Given the description of an element on the screen output the (x, y) to click on. 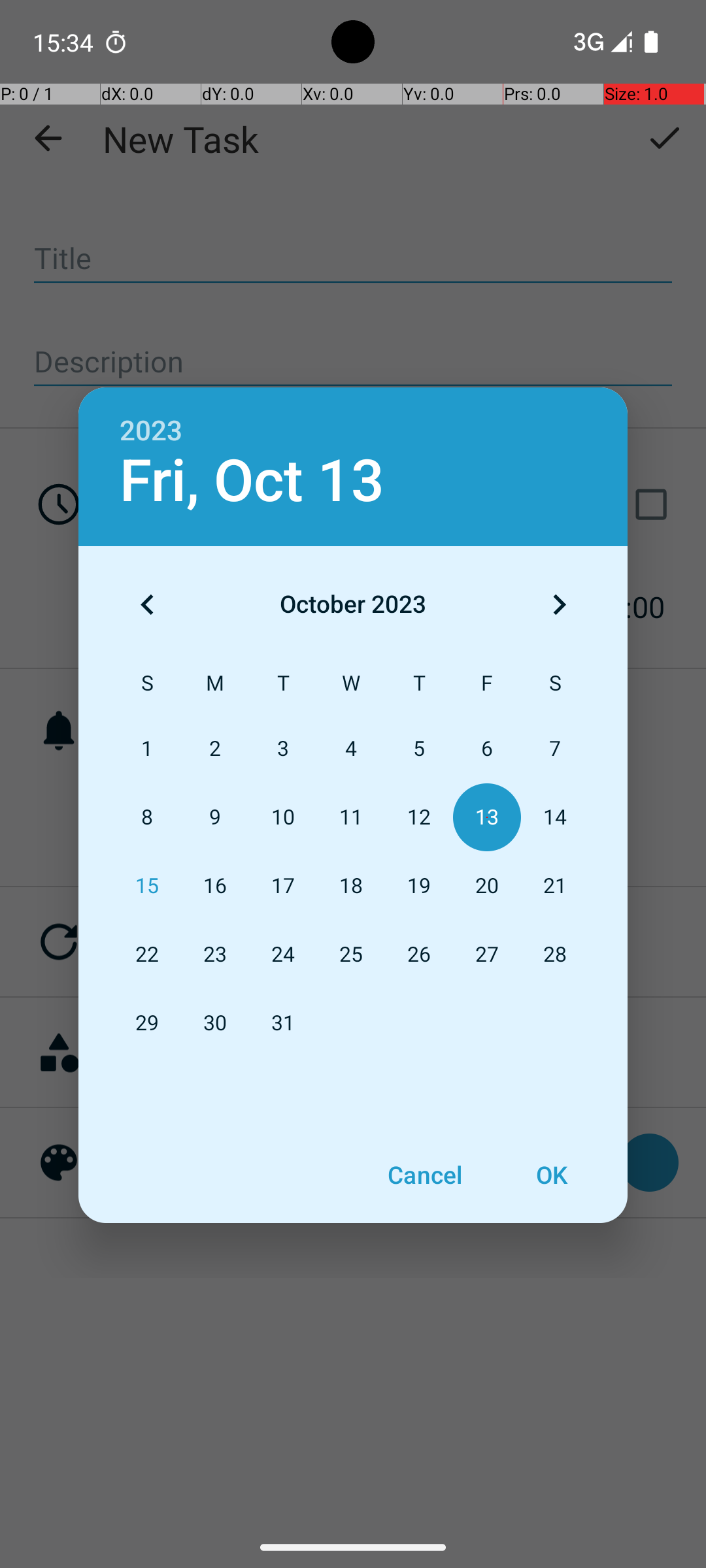
Fri, Oct 13 Element type: android.widget.TextView (251, 480)
